Given the description of an element on the screen output the (x, y) to click on. 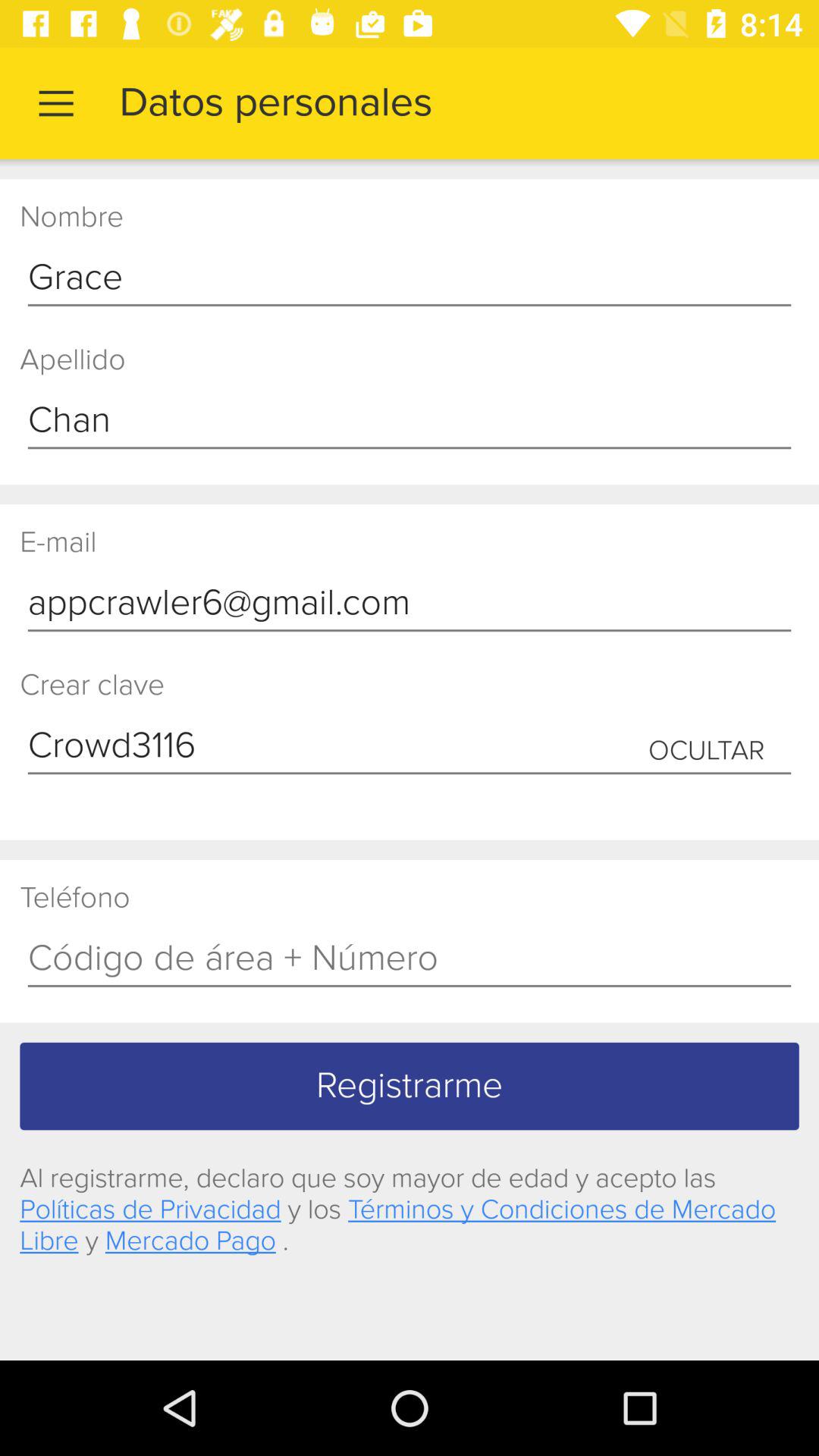
flip to the grace icon (409, 278)
